Given the description of an element on the screen output the (x, y) to click on. 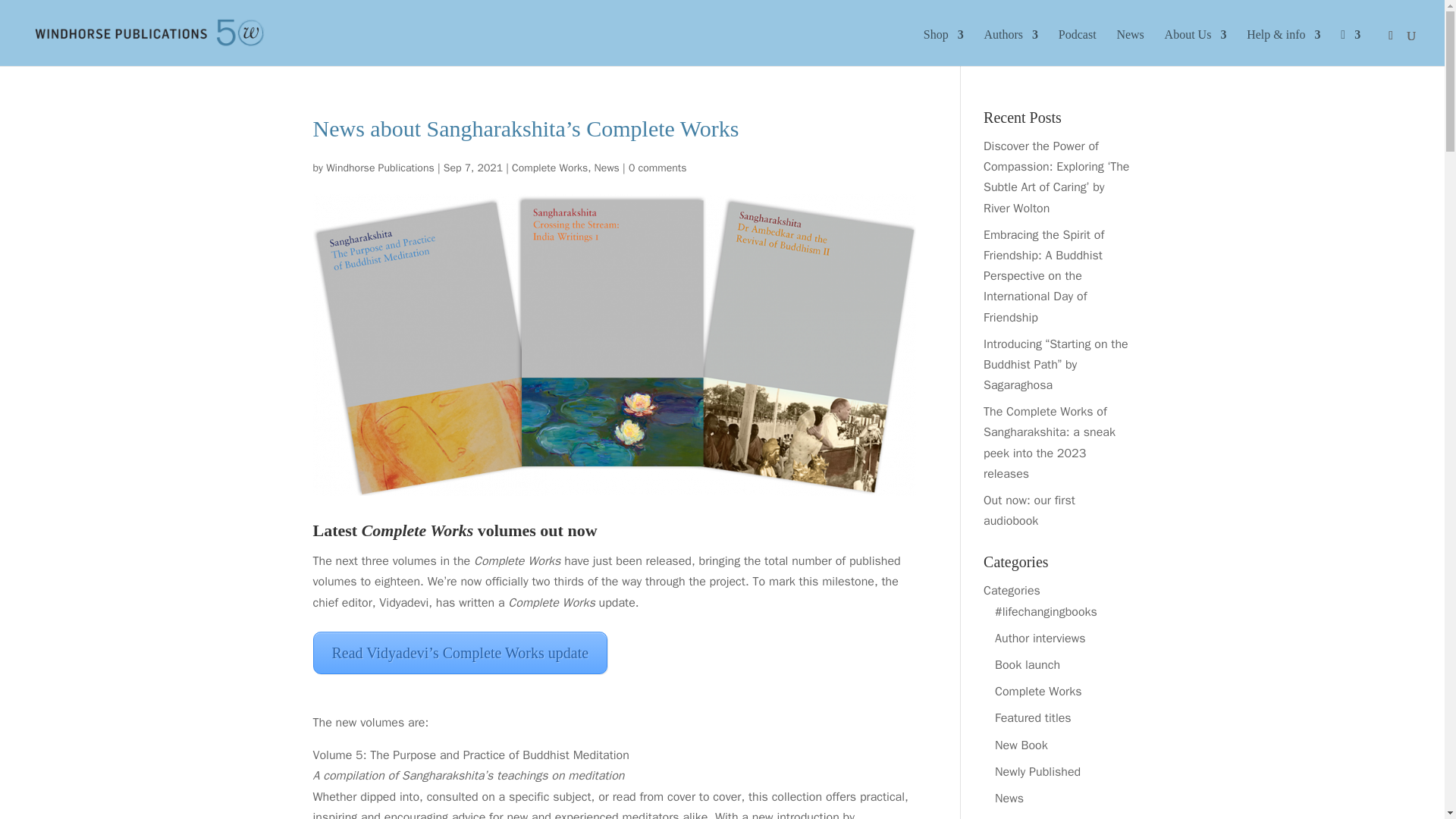
News (607, 166)
Posts by Windhorse Publications (379, 166)
Podcast (1077, 47)
About Us (1195, 47)
Shop (943, 47)
0 comments (657, 166)
Complete Works (550, 166)
Authors (1011, 47)
Windhorse Publications (379, 166)
